Given the description of an element on the screen output the (x, y) to click on. 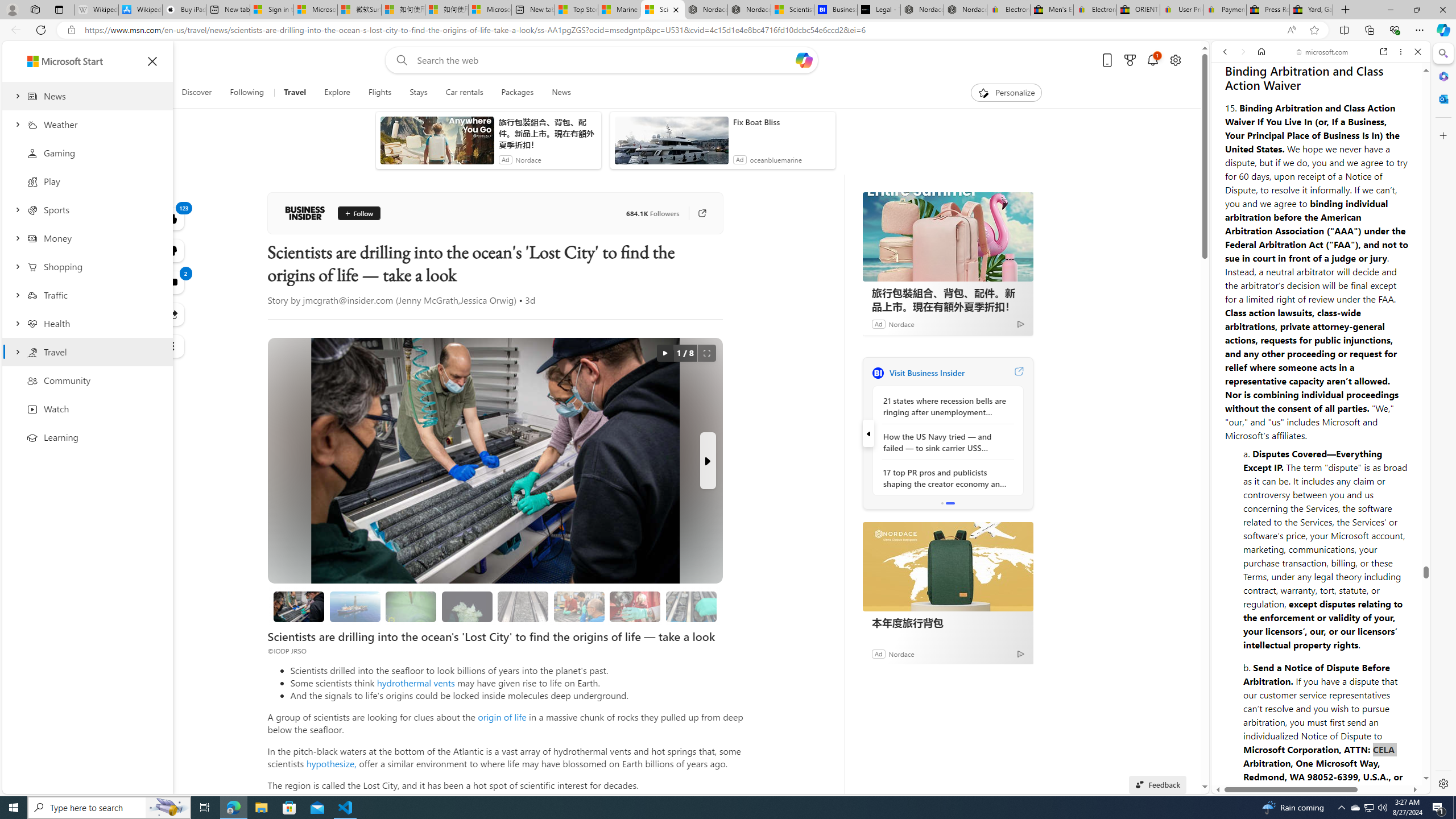
Minimize Search pane (1442, 53)
Visit Business Insider website (1018, 372)
123 Like (172, 218)
